Given the description of an element on the screen output the (x, y) to click on. 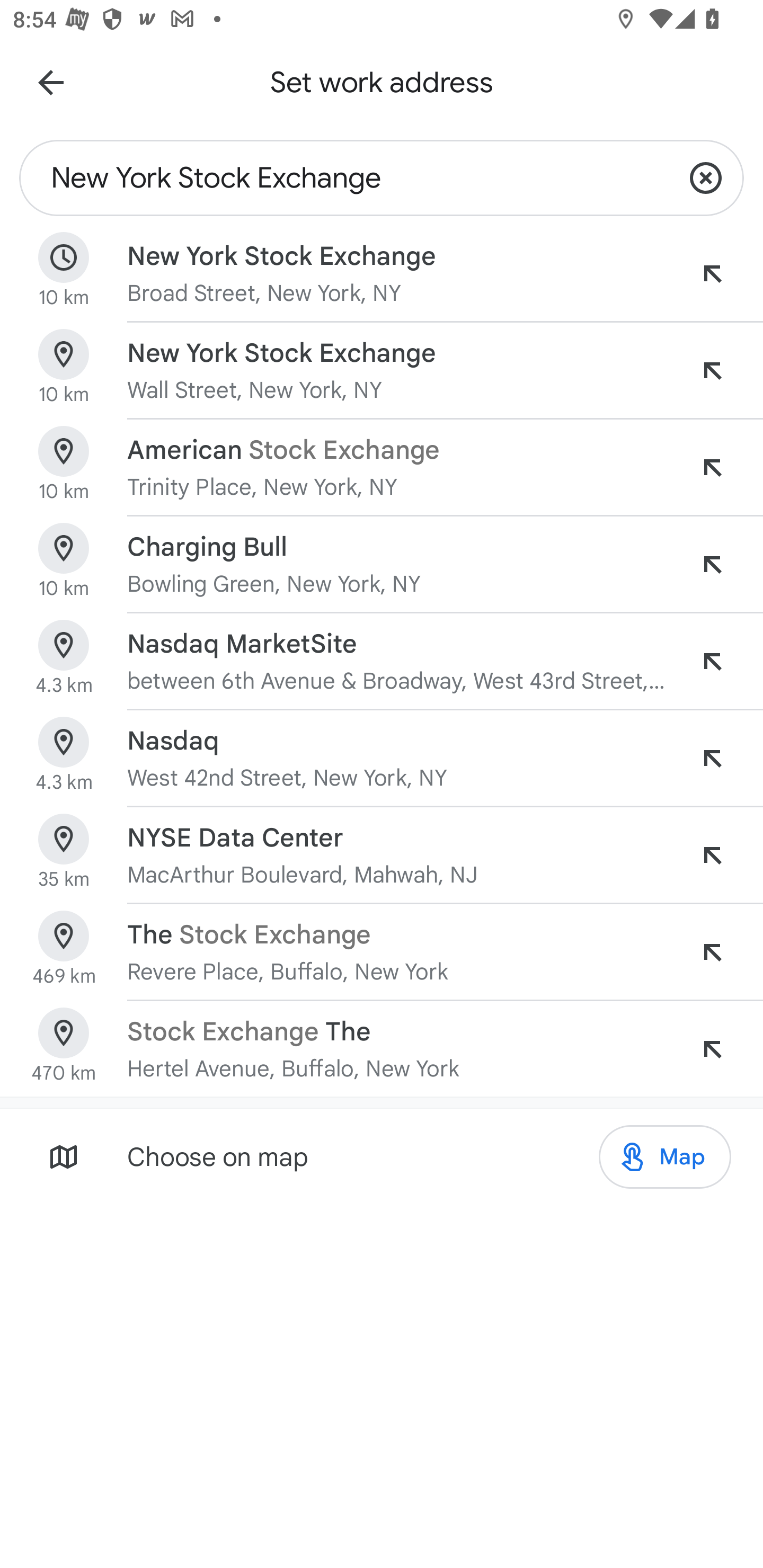
Navigate up (50, 81)
New York Stock Exchange (343, 177)
Clear (705, 177)
Choose on map Map Map Map (381, 1156)
Map Map Map (664, 1156)
